Given the description of an element on the screen output the (x, y) to click on. 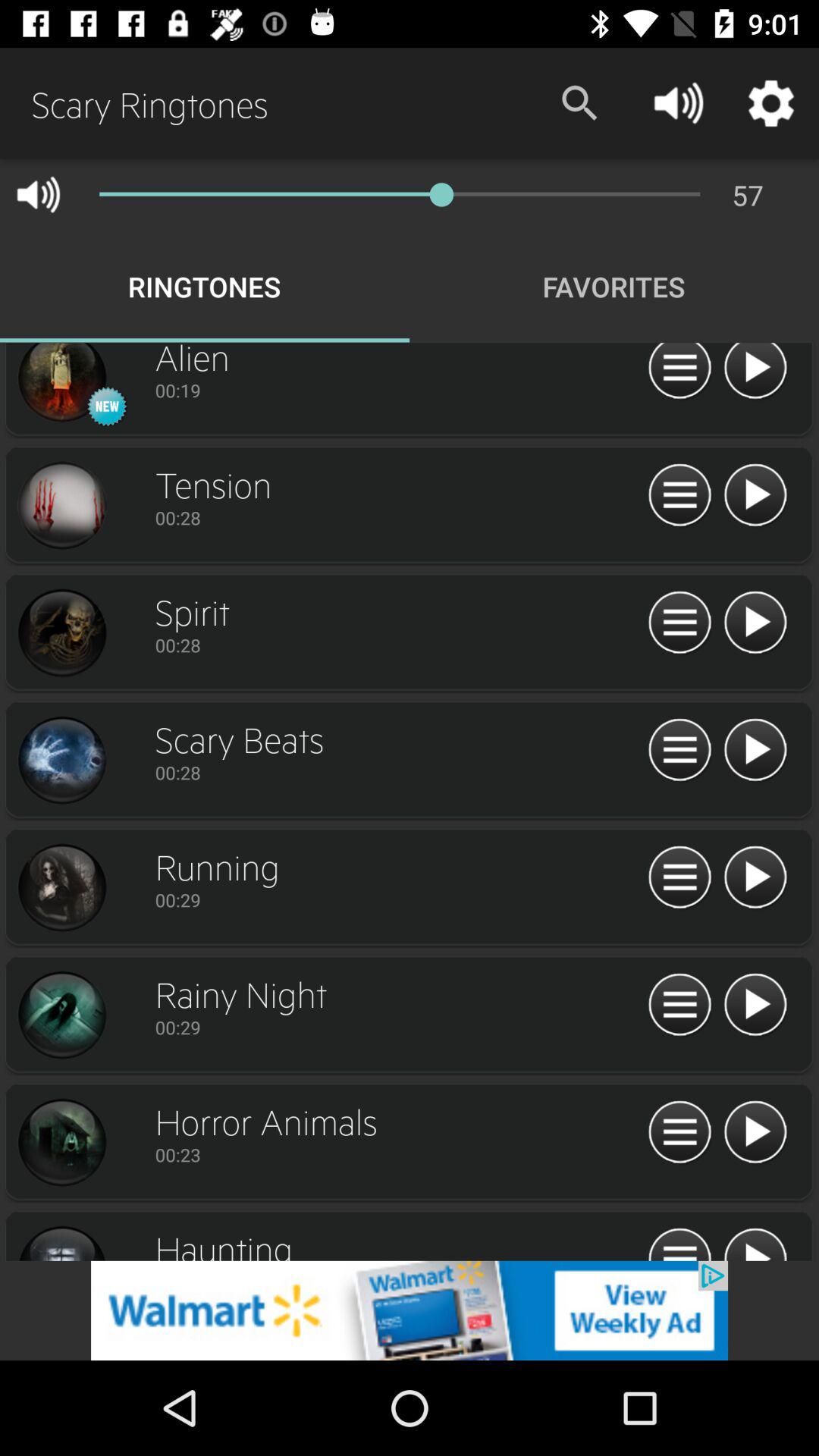
profile image (61, 505)
